Given the description of an element on the screen output the (x, y) to click on. 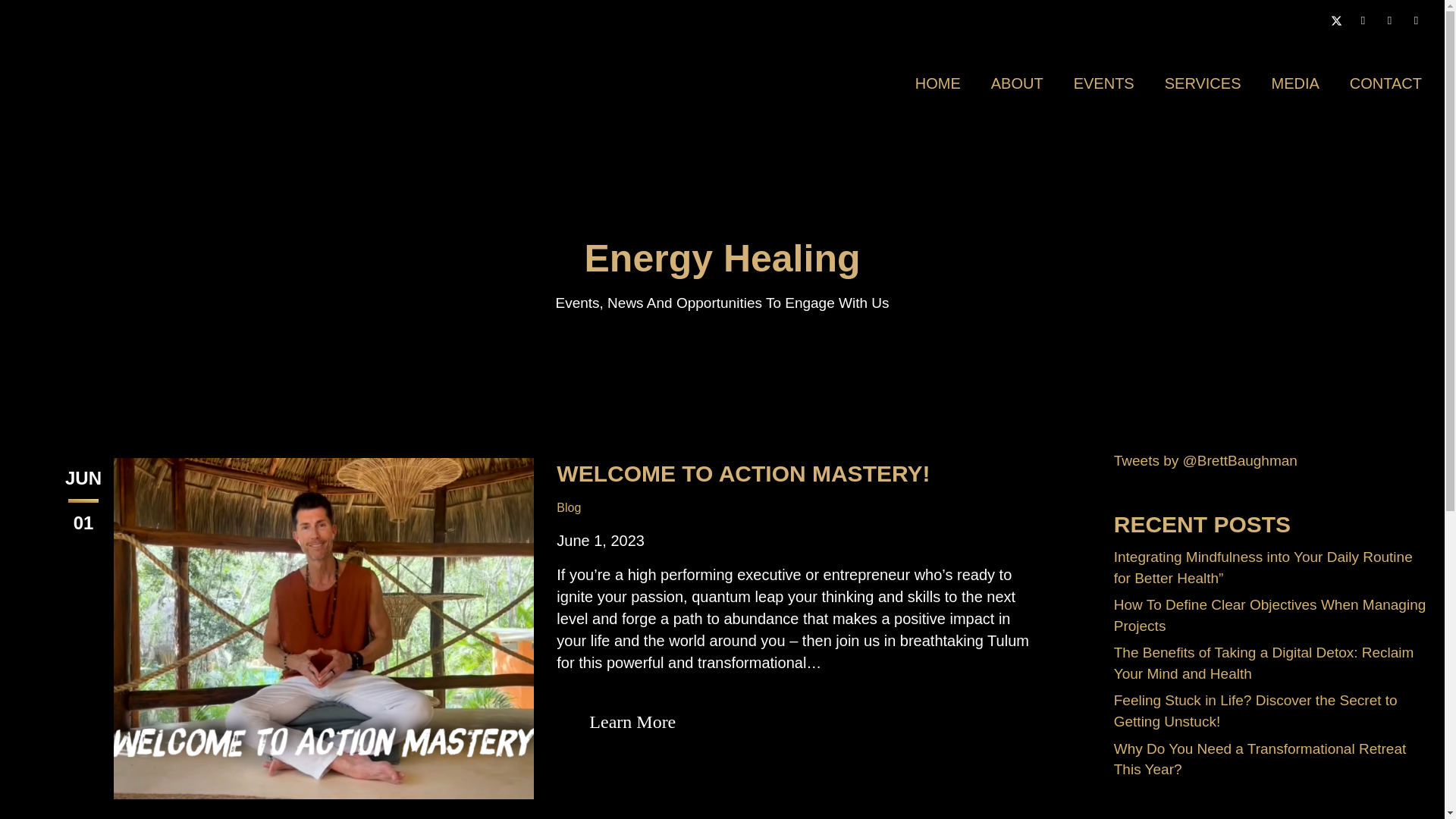
EVENTS (1103, 83)
MEDIA (1294, 83)
SERVICES (1203, 83)
HOME (937, 83)
ABOUT (1017, 83)
Instagram (1362, 20)
CONTACT (1385, 83)
Learn More (631, 721)
Welcome to Action Mastery! (323, 626)
